Given the description of an element on the screen output the (x, y) to click on. 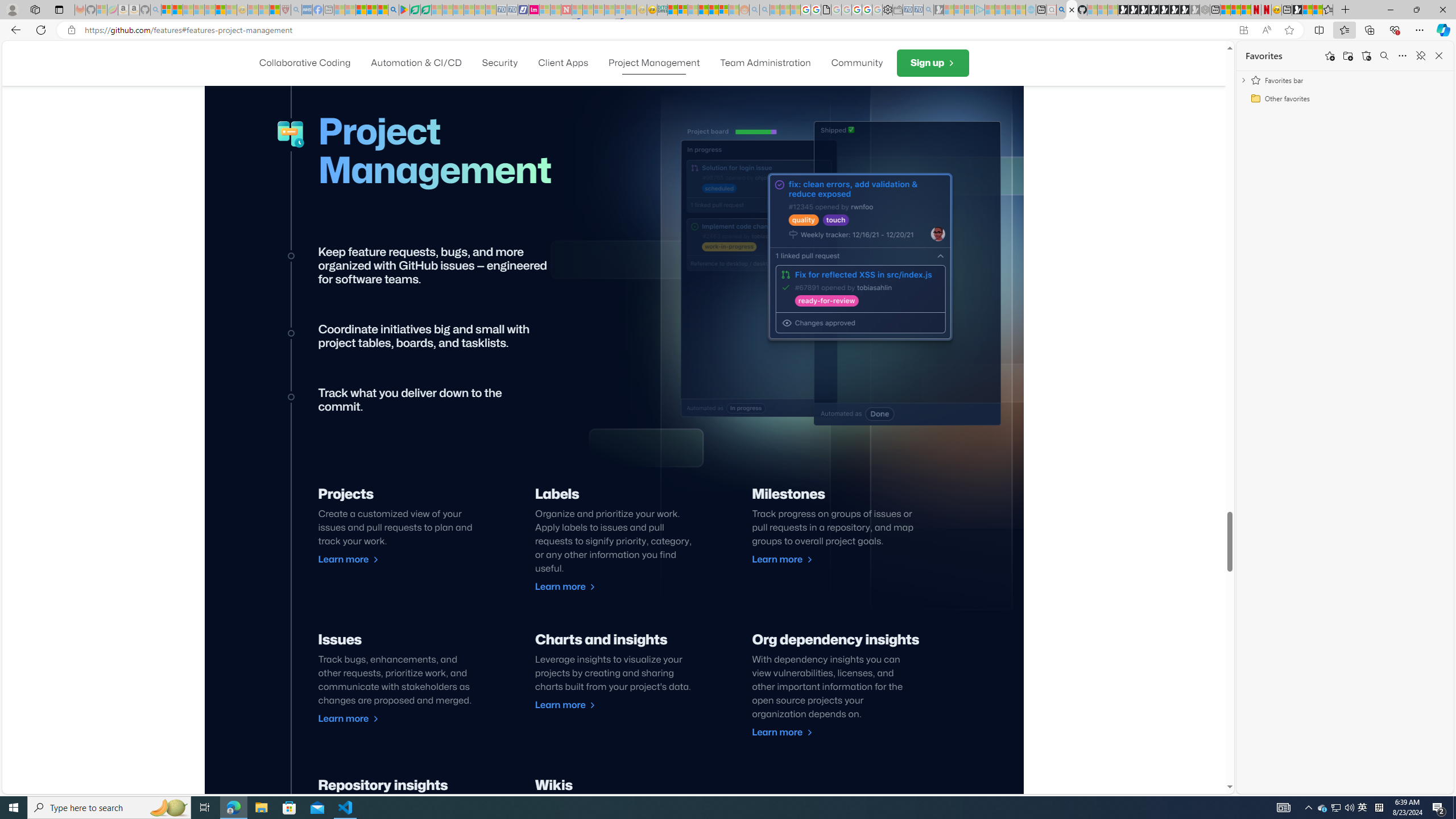
Restore deleted favorites (1366, 55)
google_privacy_policy_zh-CN.pdf (825, 9)
Robert H. Shmerling, MD - Harvard Health - Sleeping (285, 9)
Track what you deliver down to the commit. (859, 255)
Settings (886, 9)
Utah sues federal government - Search - Sleeping (764, 9)
Learn more  (782, 732)
App bar (728, 29)
Back (13, 29)
The Weather Channel - MSN - Sleeping (187, 9)
list of asthma inhalers uk - Search - Sleeping (296, 9)
